Given the description of an element on the screen output the (x, y) to click on. 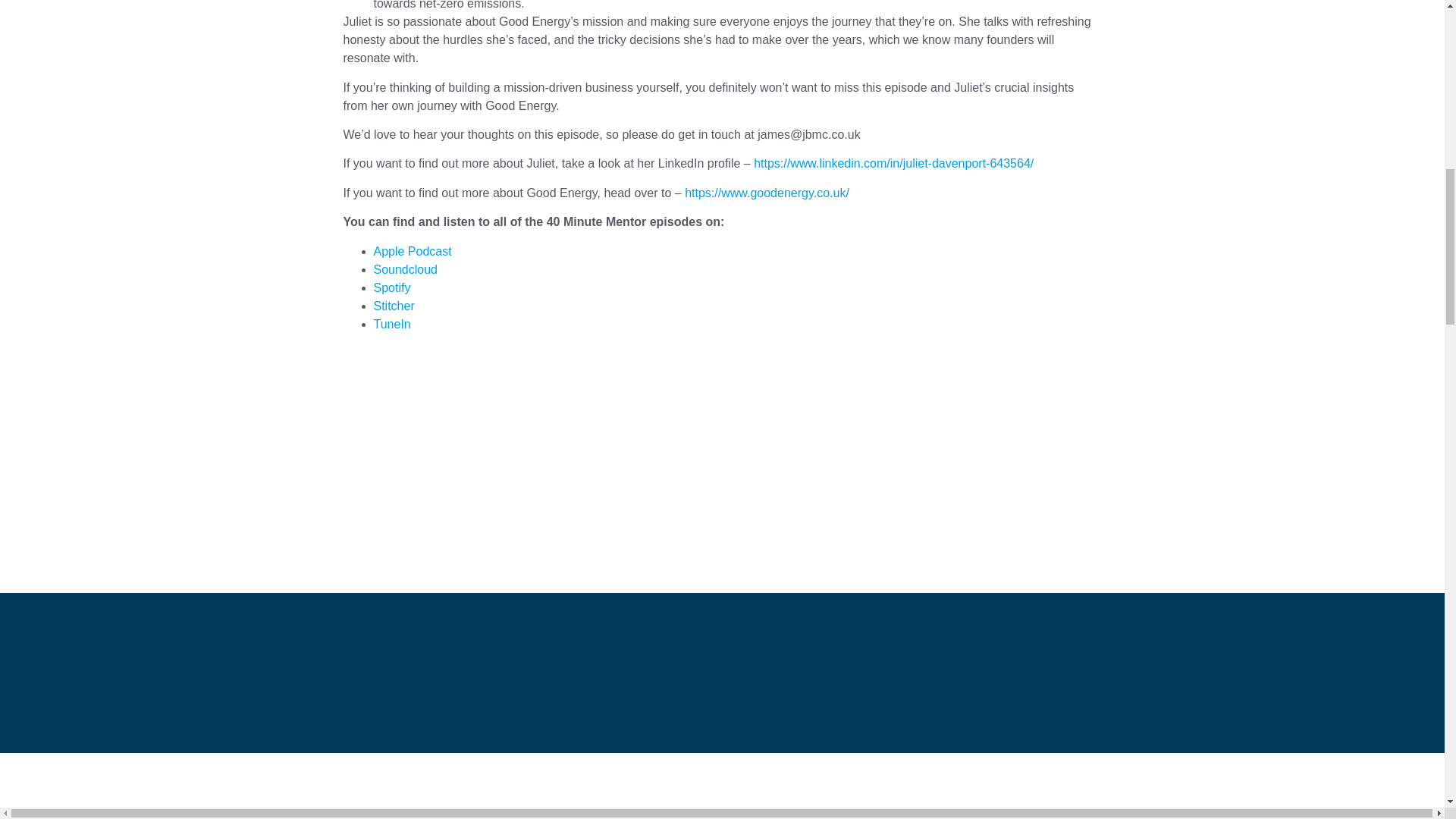
Spotify  (392, 286)
TuneIn (391, 323)
Apple Podcast  (413, 250)
Soundcloud  (406, 268)
Stitcher (392, 305)
